Given the description of an element on the screen output the (x, y) to click on. 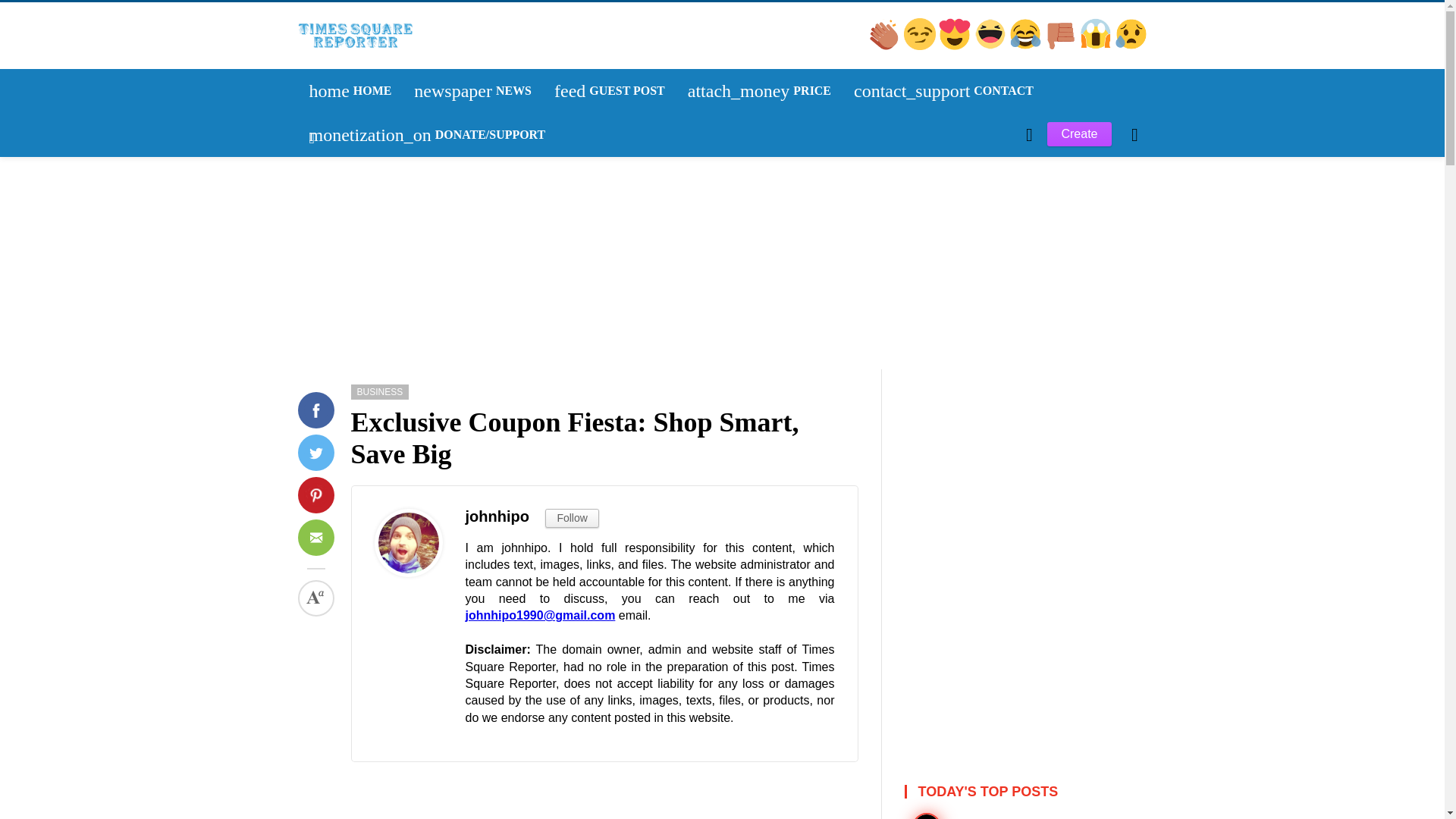
FAIL! (610, 90)
NICE (1062, 45)
LOL (473, 90)
FUNNY (921, 45)
AWESOME! (991, 45)
EW! (1026, 45)
sign up (884, 45)
Log in (333, 293)
EW! (331, 292)
OMG! (329, 292)
LOVED (1131, 45)
AWESOME! (1097, 45)
